Given the description of an element on the screen output the (x, y) to click on. 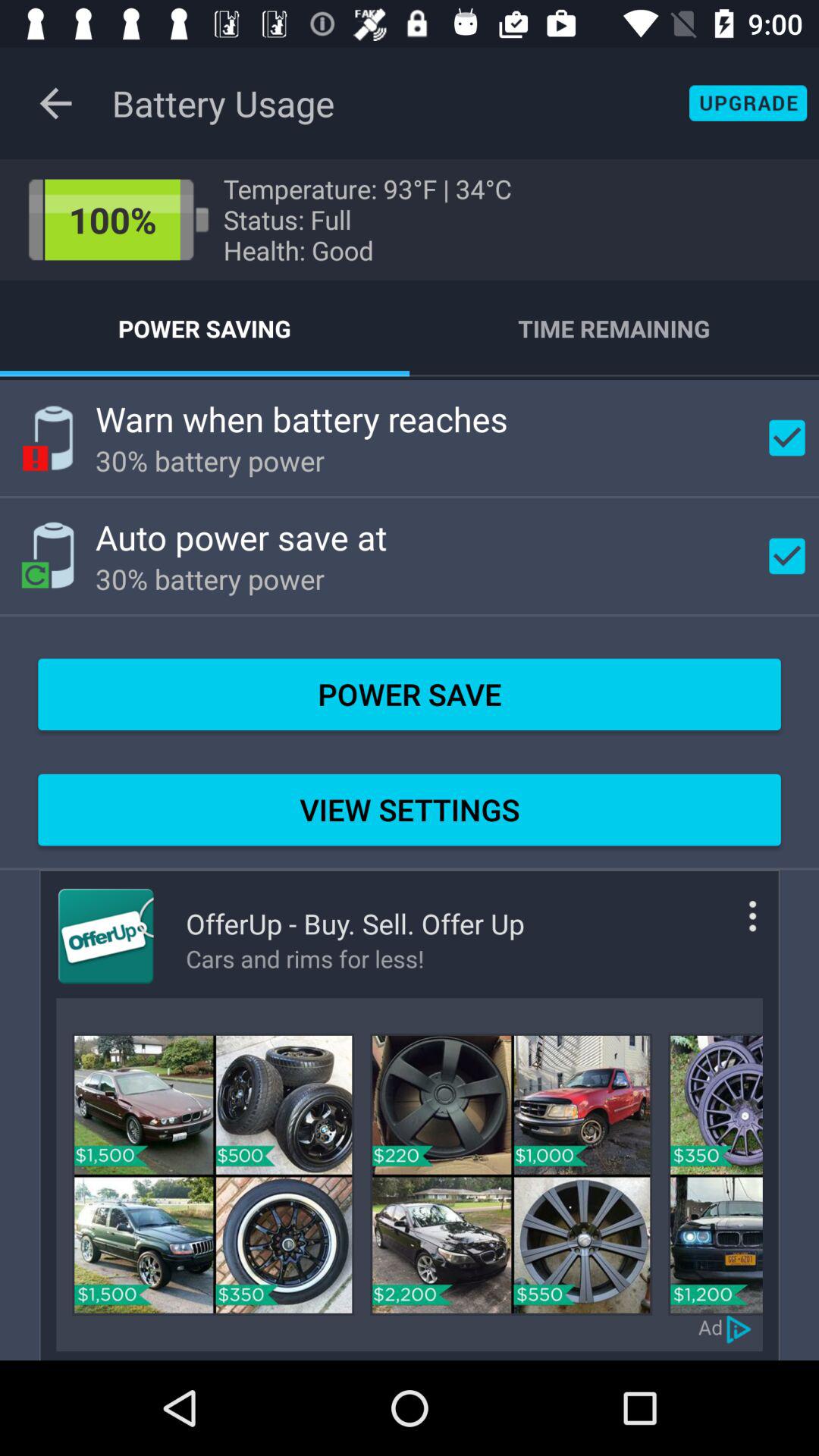
more (730, 928)
